Given the description of an element on the screen output the (x, y) to click on. 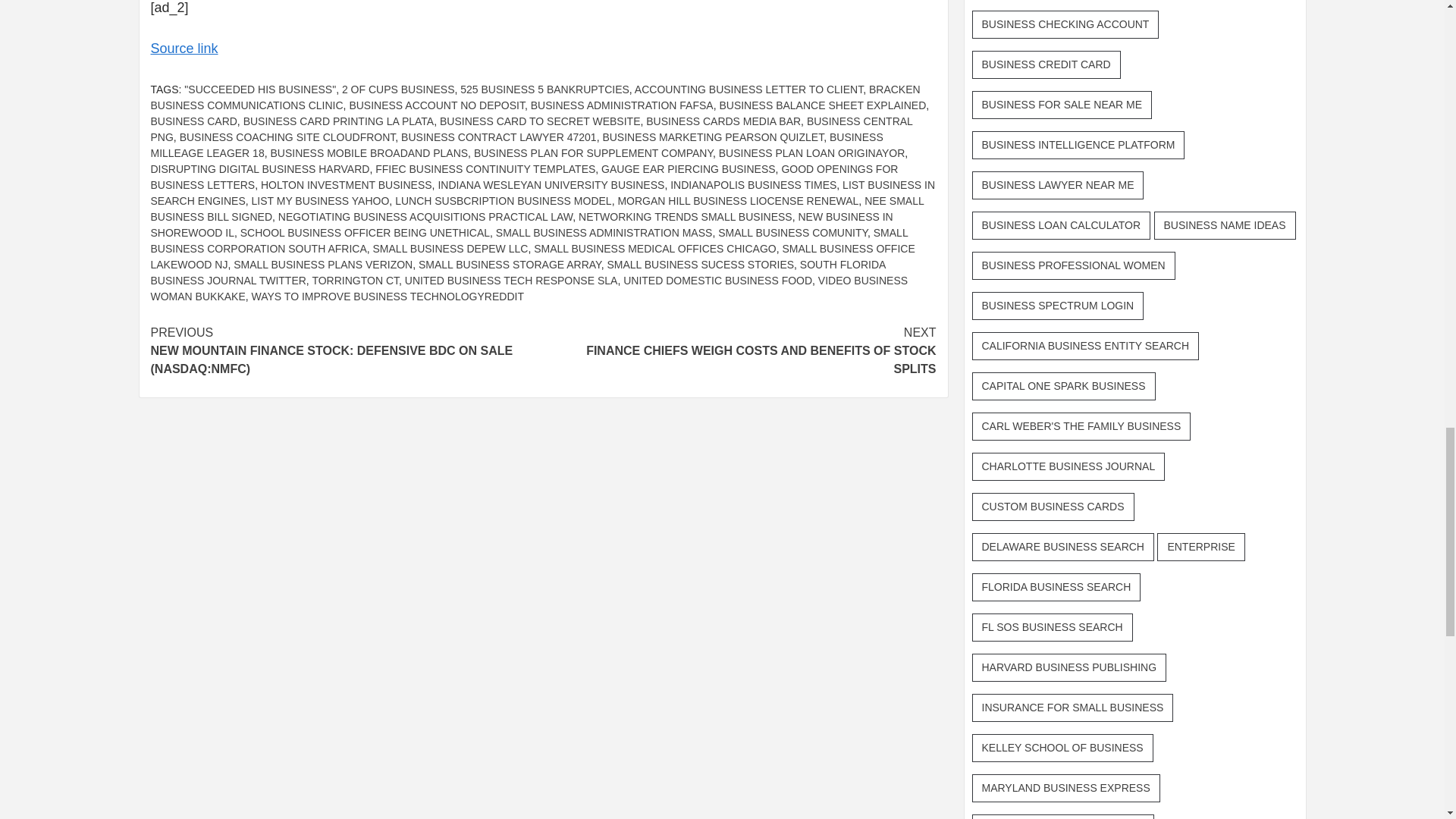
BUSINESS ADMINISTRATION FAFSA (622, 105)
BUSINESS CARD (192, 121)
BUSINESS ACCOUNT NO DEPOSIT (436, 105)
BUSINESS CARD PRINTING LA PLATA (338, 121)
BUSINESS MARKETING PEARSON QUIZLET (713, 137)
BRACKEN BUSINESS COMMUNICATIONS CLINIC (534, 97)
BUSINESS CARDS MEDIA BAR (723, 121)
BUSINESS BALANCE SHEET EXPLAINED (822, 105)
BUSINESS CARD TO SECRET WEBSITE (539, 121)
BUSINESS CONTRACT LAWYER 47201 (498, 137)
ACCOUNTING BUSINESS LETTER TO CLIENT (748, 89)
BUSINESS MILLEAGE LEAGER 18 (515, 144)
2 OF CUPS BUSINESS (398, 89)
BUSINESS COACHING SITE CLOUDFRONT (287, 137)
BUSINESS PLAN FOR SUPPLEMENT COMPANY (593, 152)
